Given the description of an element on the screen output the (x, y) to click on. 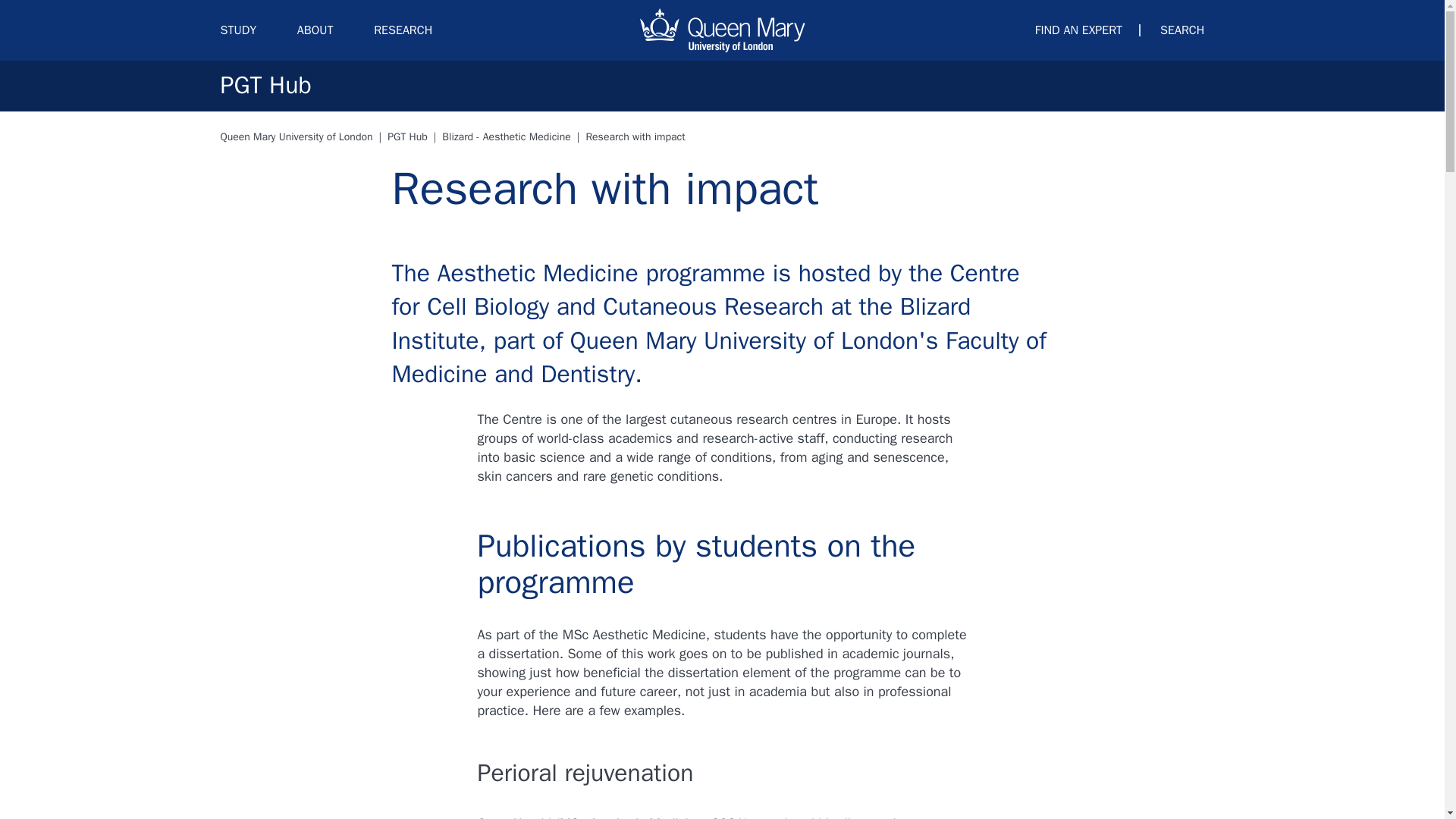
STUDY (237, 23)
